Given the description of an element on the screen output the (x, y) to click on. 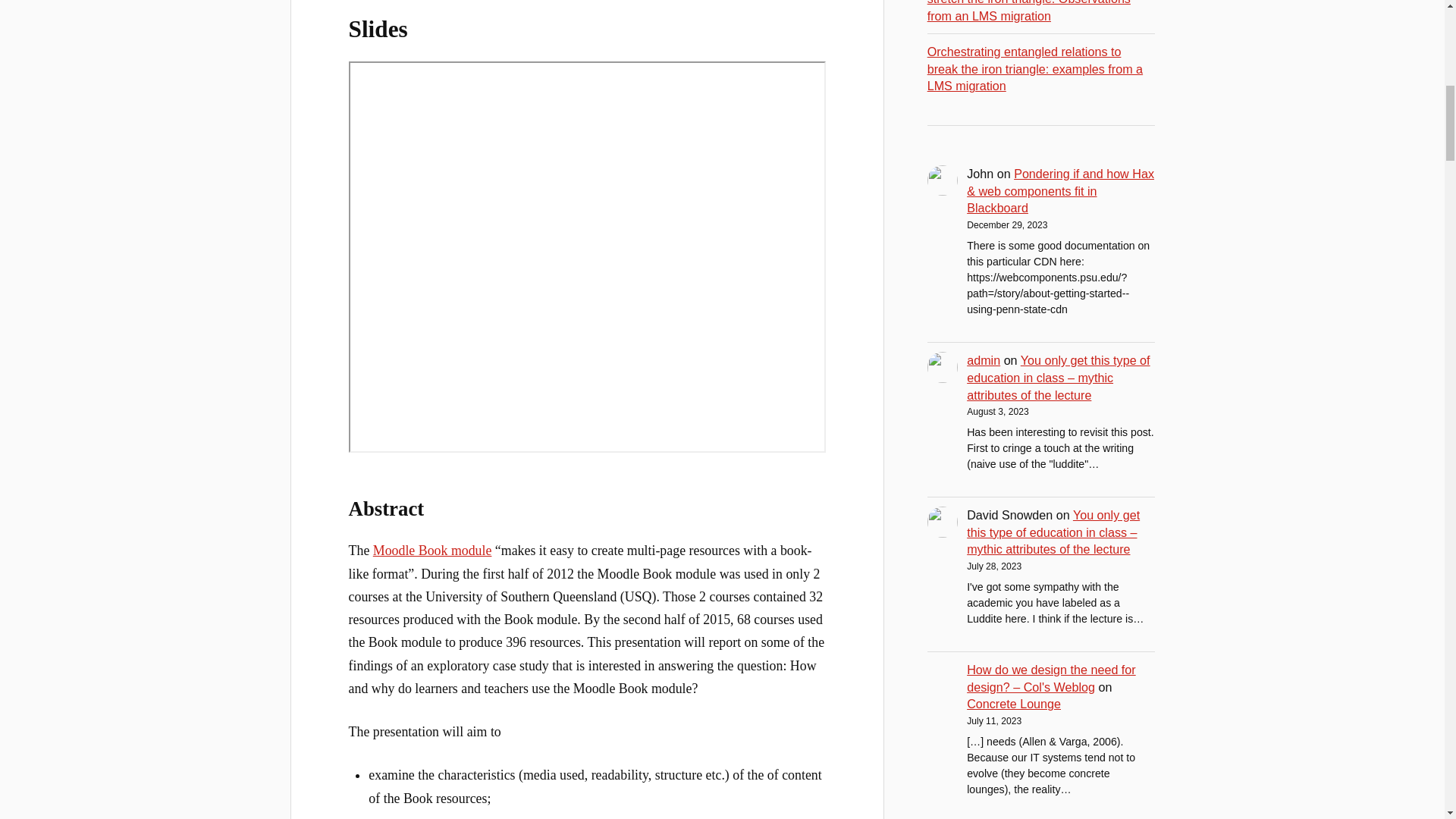
Moodle Book module (432, 549)
